Given the description of an element on the screen output the (x, y) to click on. 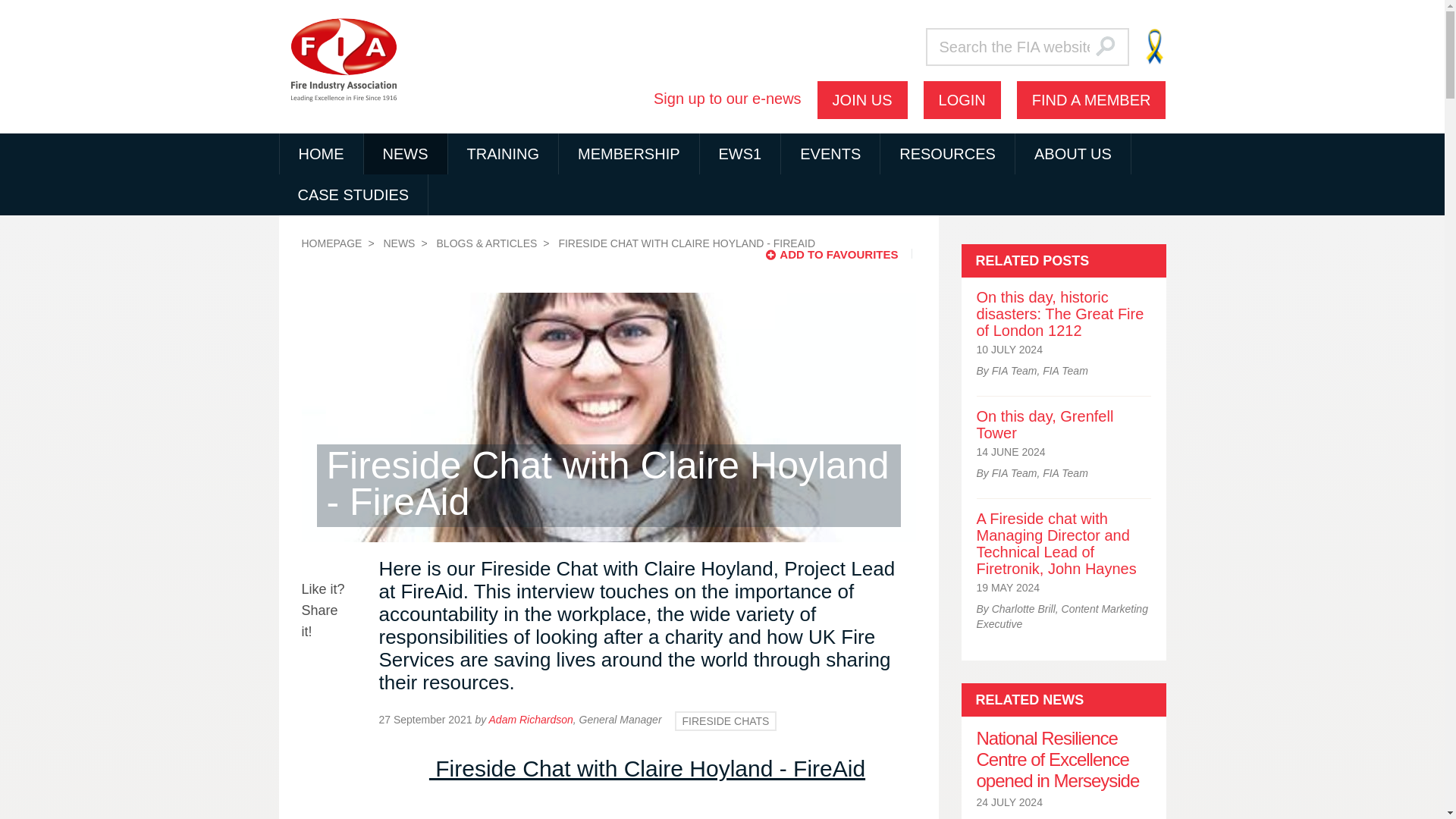
Sign up to our e-news (727, 98)
JOIN US (861, 99)
LOGIN (962, 99)
FIND A MEMBER (1091, 99)
NEWS (405, 153)
EWS1 (740, 153)
EVENTS (829, 153)
RESOURCES (947, 153)
MEMBERSHIP (628, 153)
HOME (320, 153)
